Given the description of an element on the screen output the (x, y) to click on. 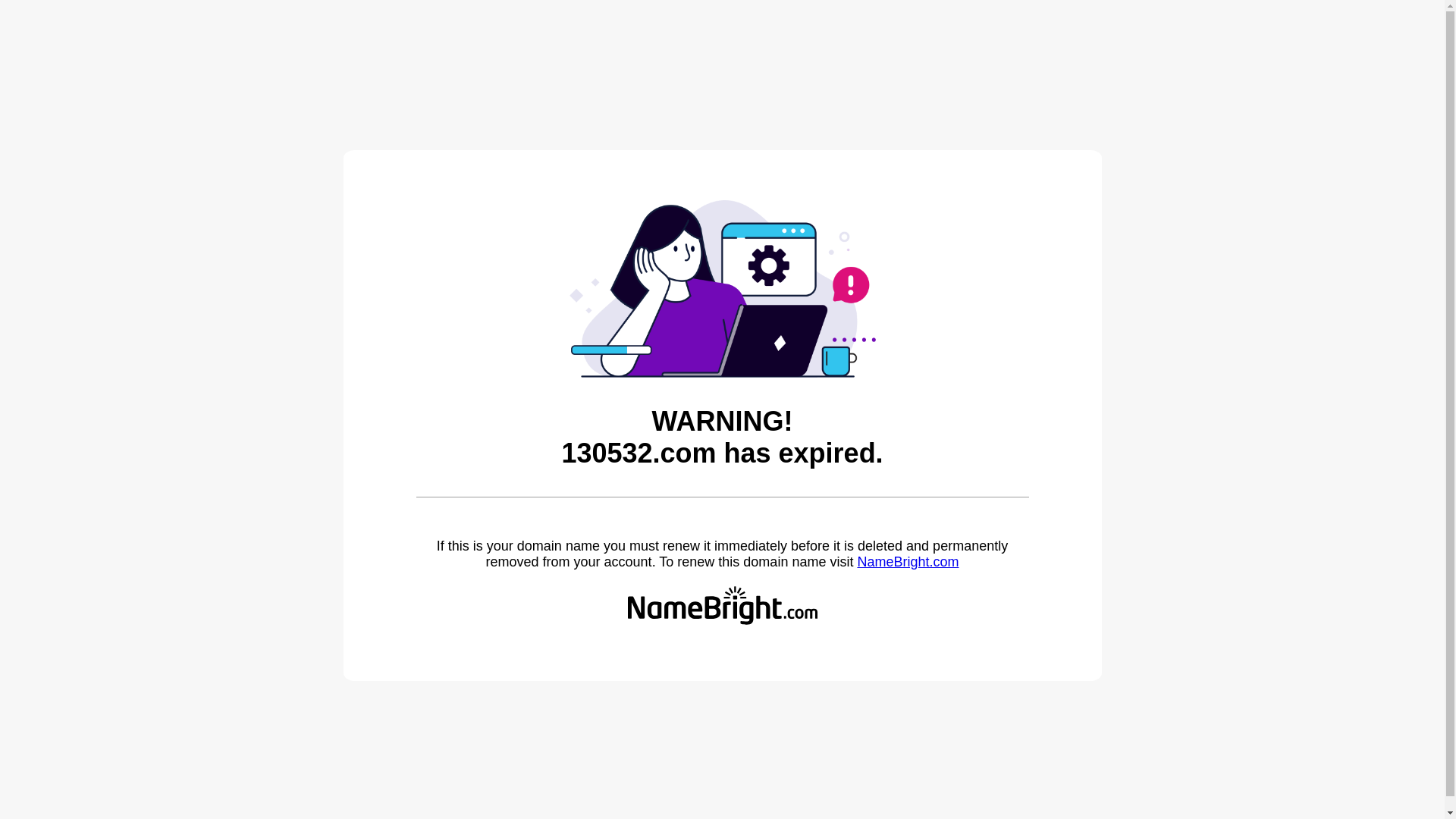
NameBright.com Element type: text (907, 561)
